Given the description of an element on the screen output the (x, y) to click on. 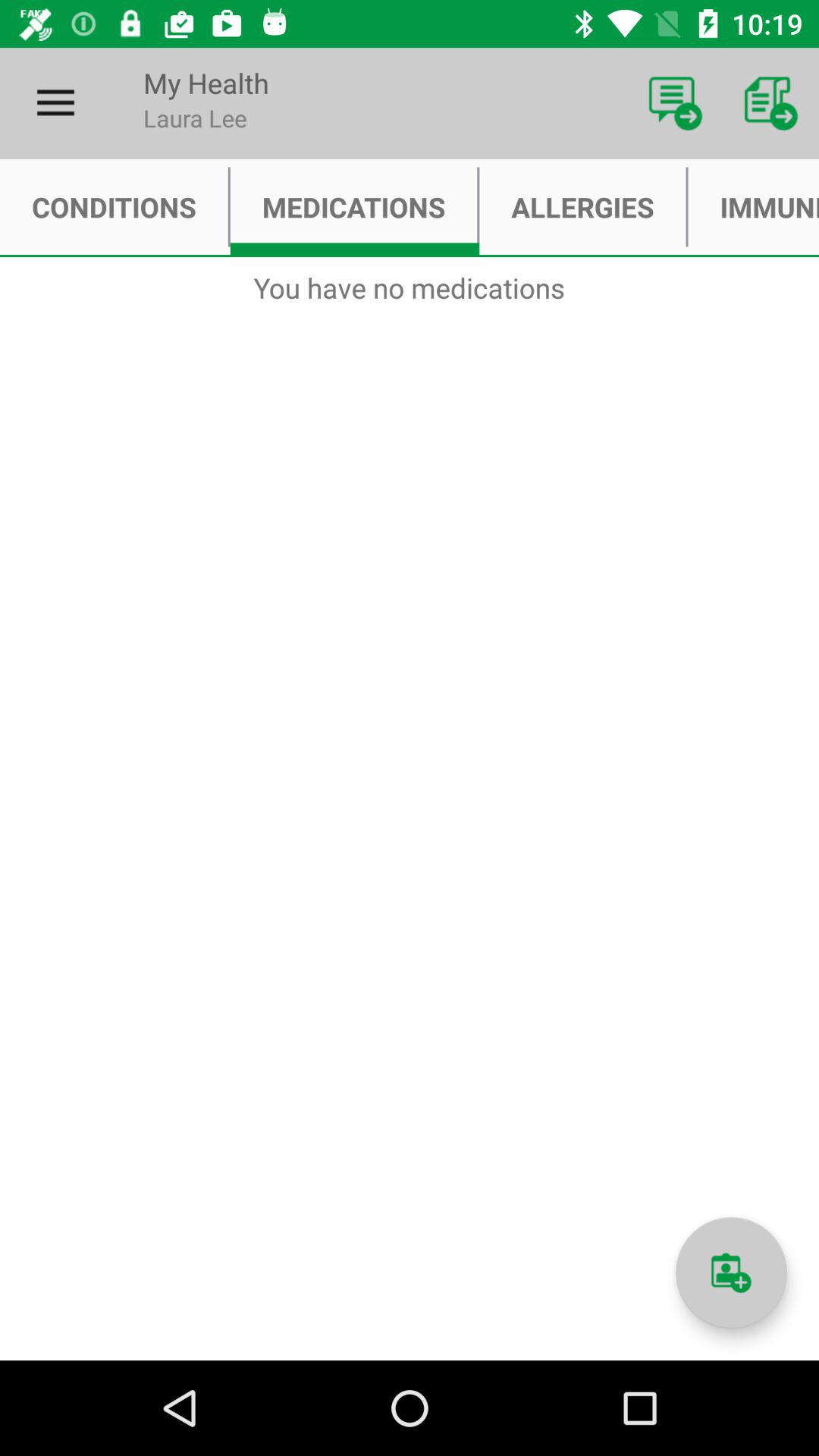
open item next to the my health (675, 103)
